Given the description of an element on the screen output the (x, y) to click on. 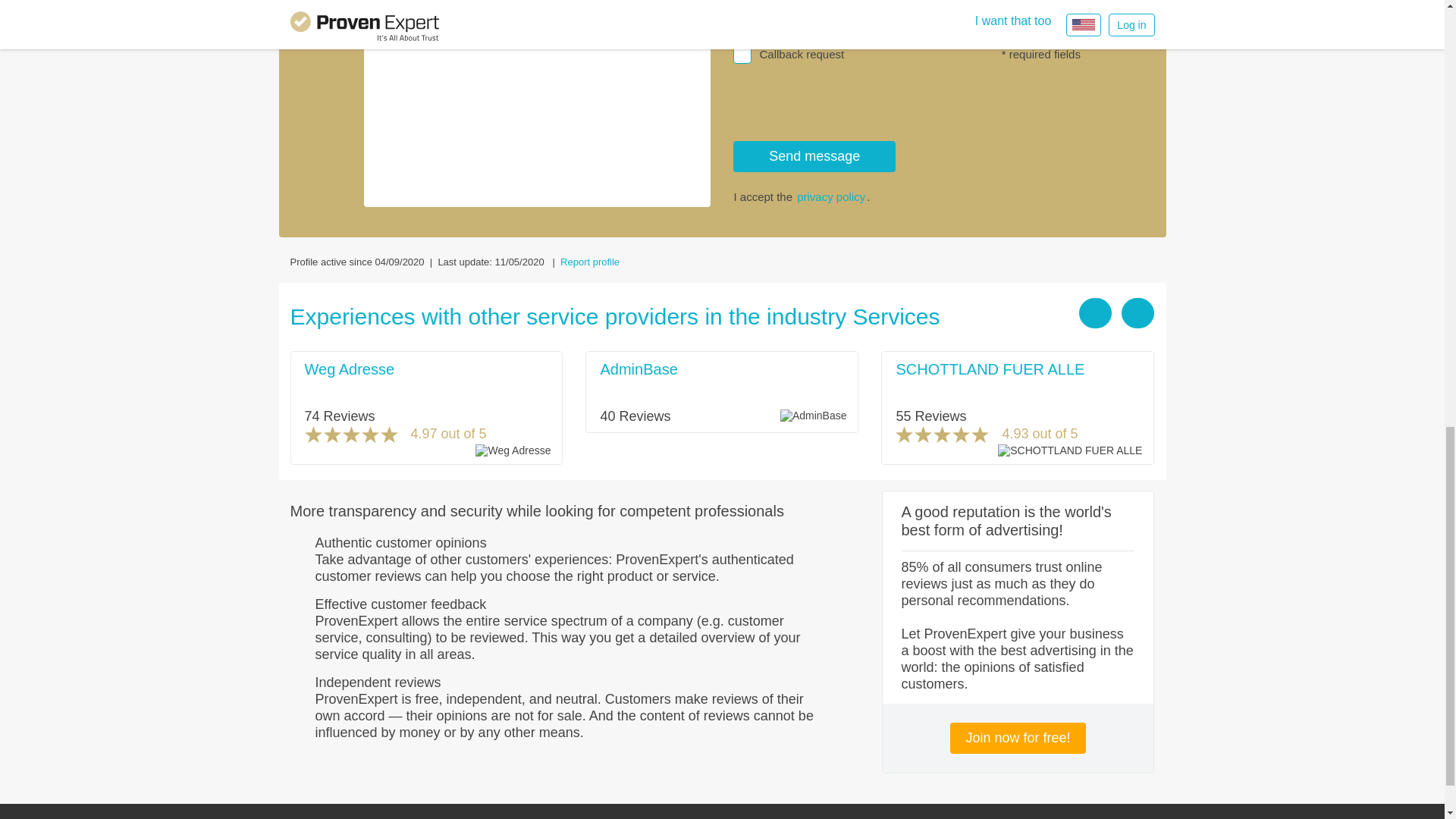
Send message (814, 155)
Weg Adresse (349, 369)
Report profile (590, 261)
privacy policy (830, 196)
